Given the description of an element on the screen output the (x, y) to click on. 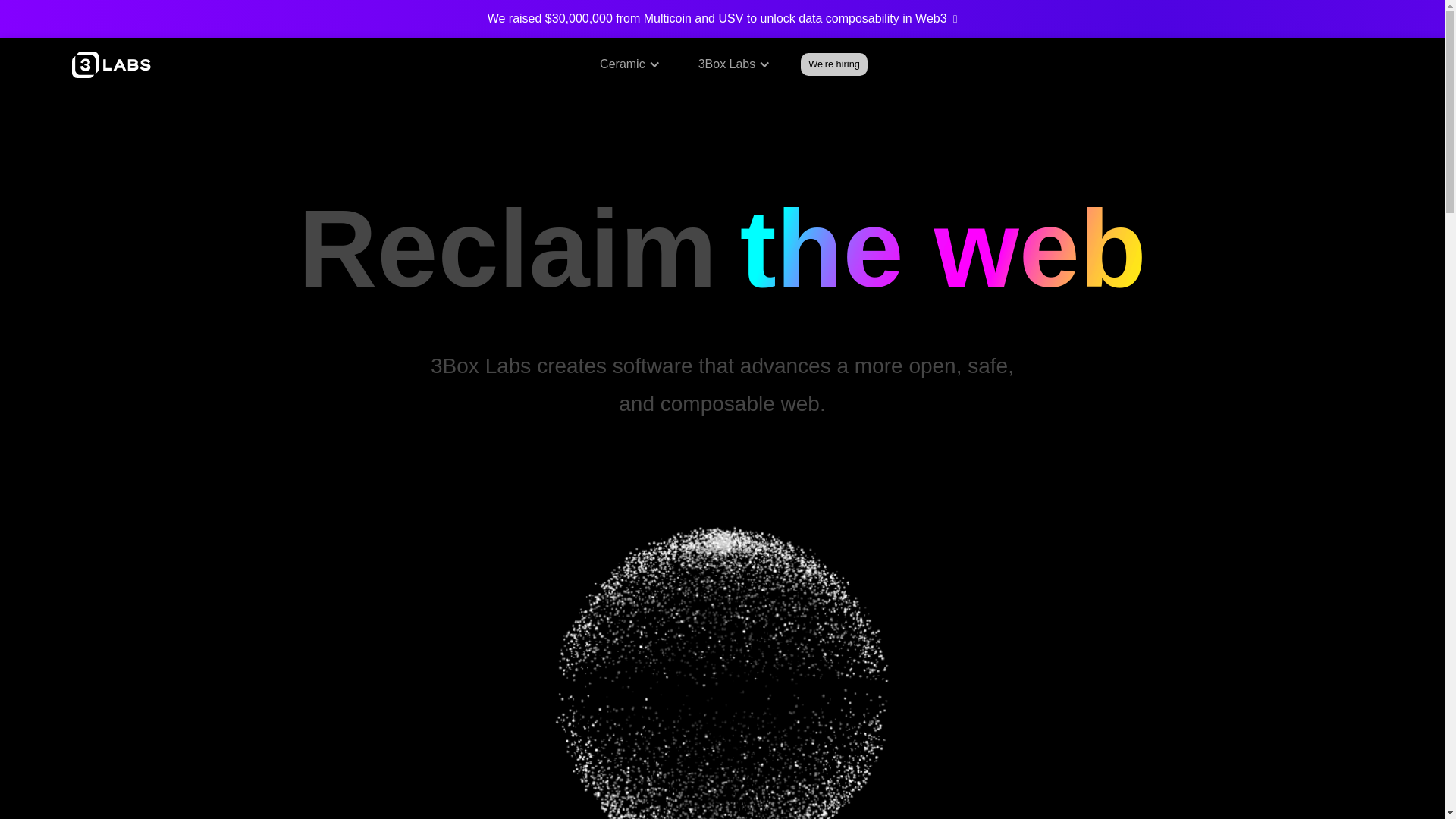
We're hiring Element type: text (833, 64)
